Given the description of an element on the screen output the (x, y) to click on. 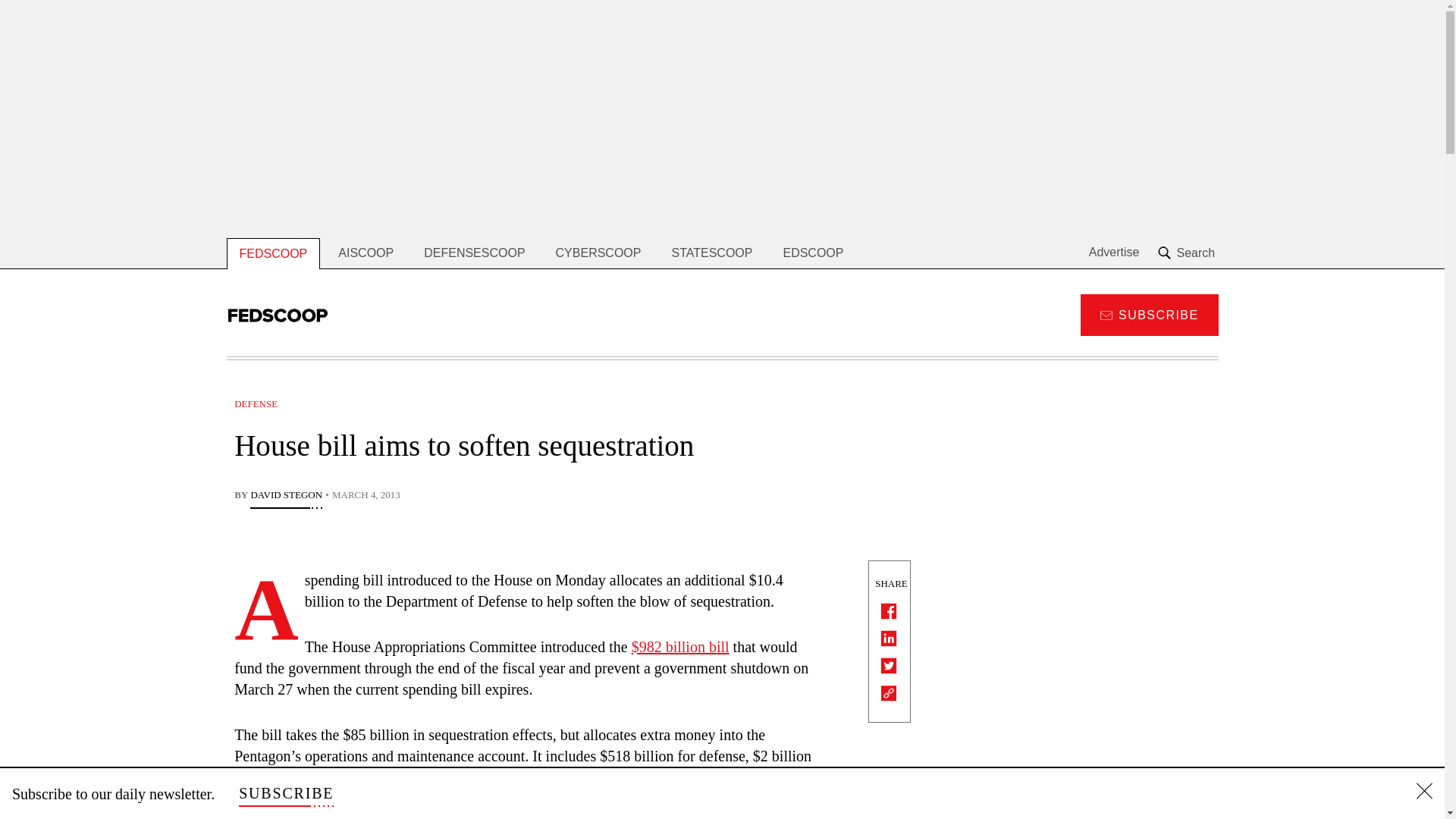
SUBSCRIBE (1148, 314)
DAVID STEGON (285, 496)
STATESCOOP (711, 253)
AISCOOP (366, 253)
Advertise (1114, 252)
DEFENSESCOOP (474, 253)
SUBSCRIBE (285, 793)
CYBERSCOOP (598, 253)
Search (1187, 252)
